Given the description of an element on the screen output the (x, y) to click on. 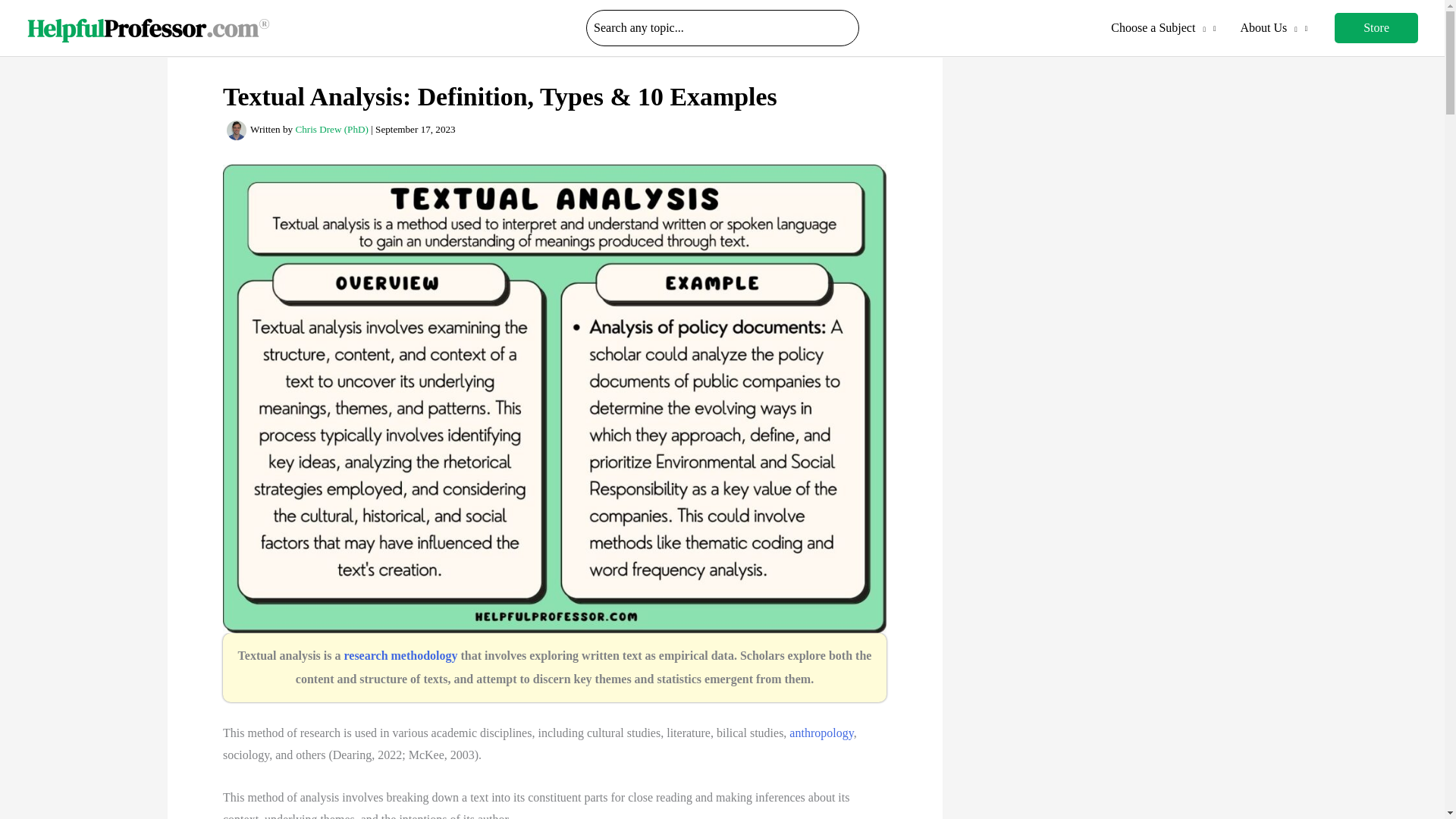
Choose a Subject (1163, 27)
Store (1376, 28)
research methodology (400, 655)
About Us (1273, 27)
anthropology (821, 732)
